Given the description of an element on the screen output the (x, y) to click on. 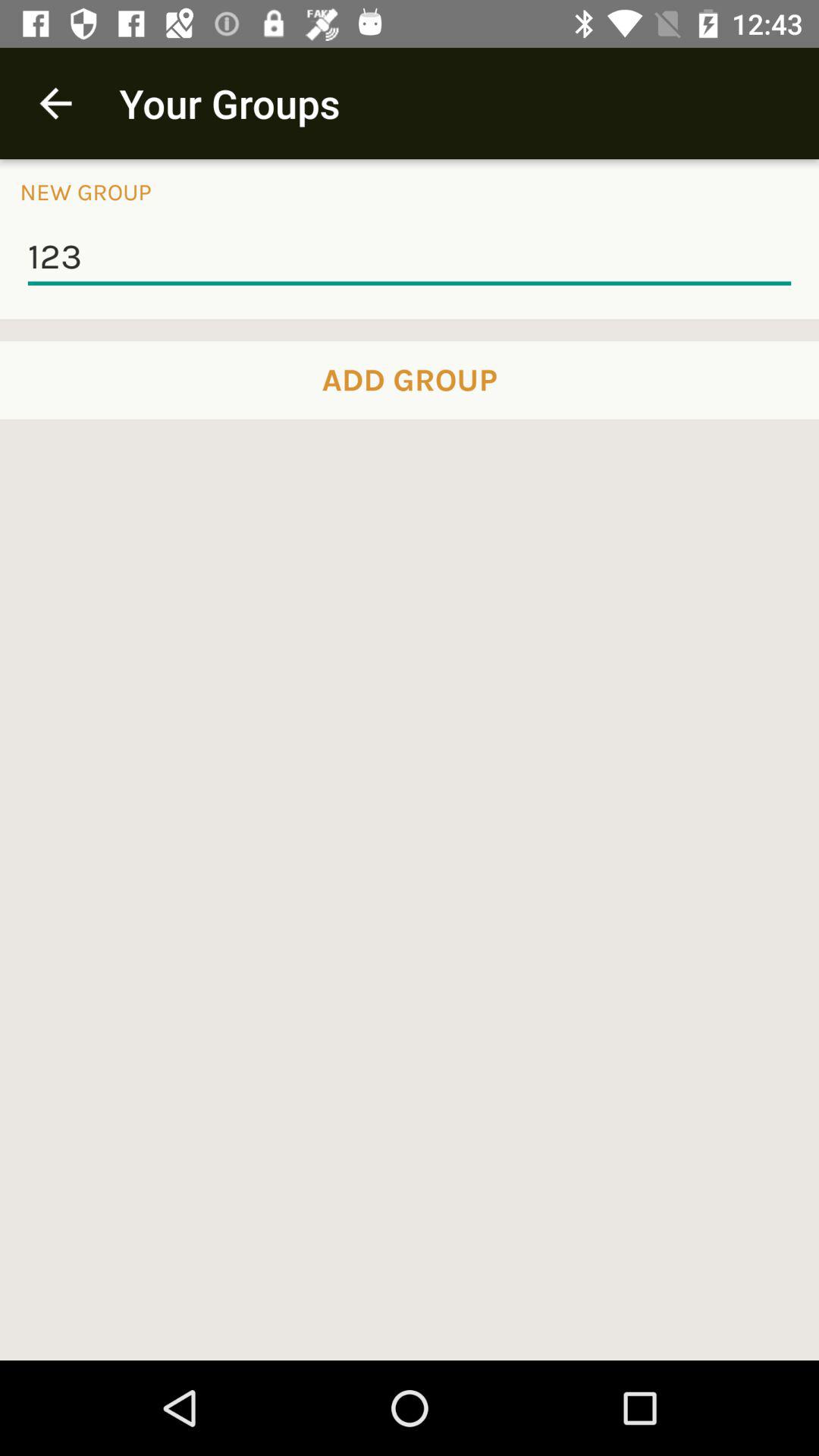
turn on 123 item (409, 257)
